Given the description of an element on the screen output the (x, y) to click on. 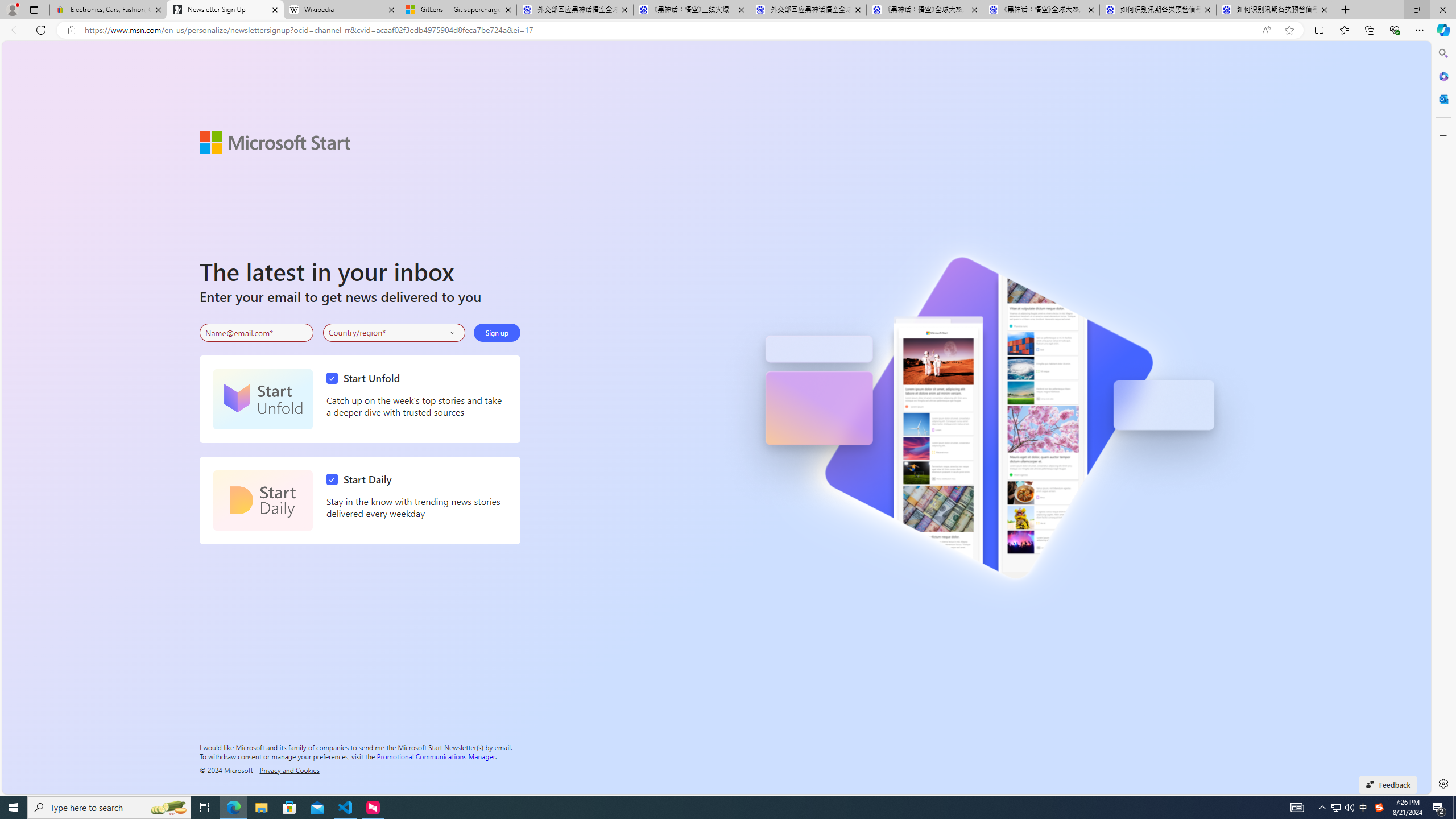
Newsletter Sign Up (224, 9)
